Given the description of an element on the screen output the (x, y) to click on. 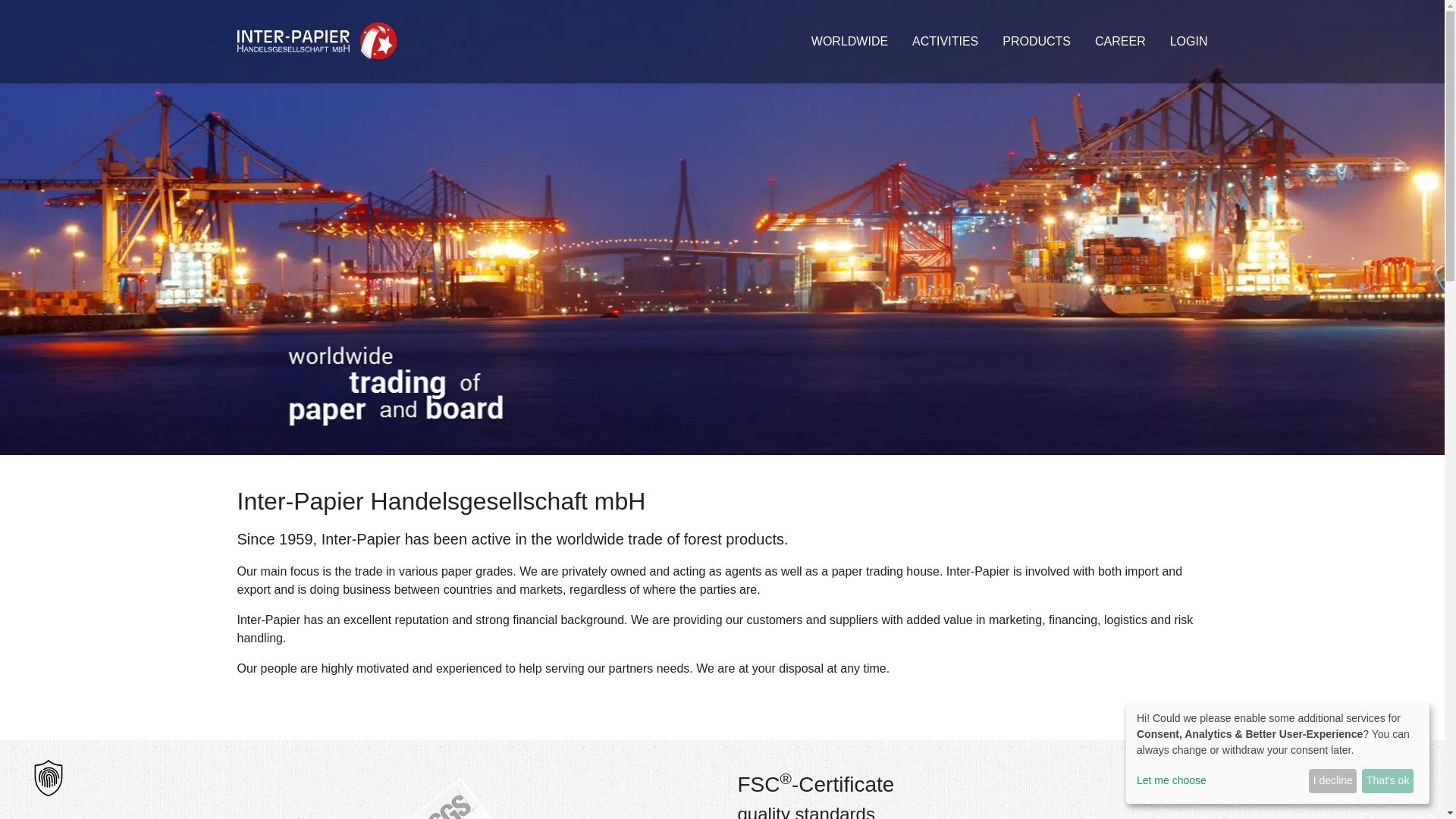
Login (1188, 41)
products (1036, 41)
I decline (1332, 781)
That's ok (1387, 781)
Let me choose (1220, 780)
activities (944, 41)
worldwide (849, 41)
CAREER (1120, 41)
WORLDWIDE (849, 41)
PRODUCTS (1036, 41)
